Given the description of an element on the screen output the (x, y) to click on. 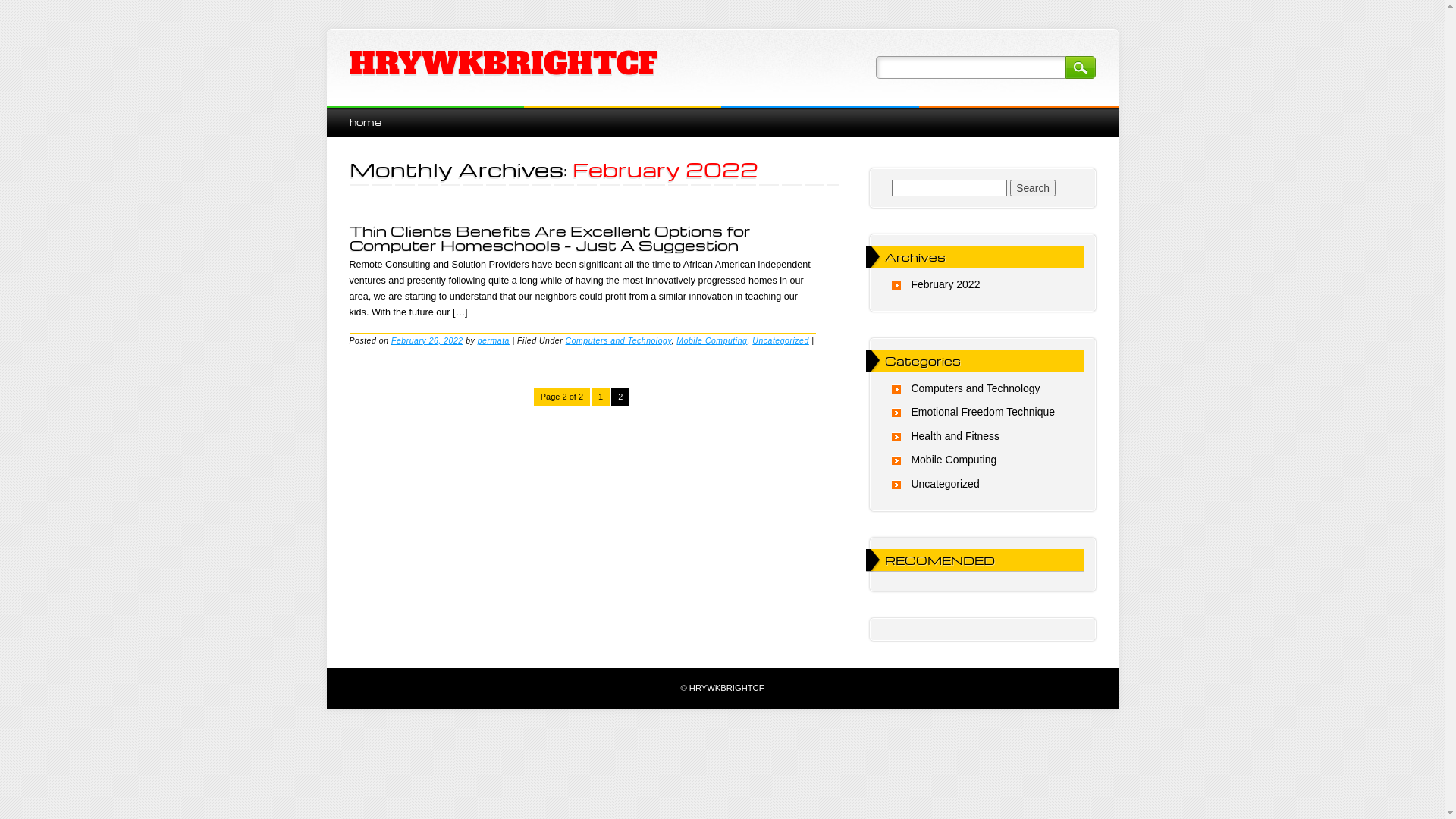
Computers and Technology Element type: text (618, 339)
HRYWKBRIGHTCF Element type: text (502, 63)
February 26, 2022 Element type: text (427, 339)
Health and Fitness Element type: text (954, 435)
February 2022 Element type: text (944, 284)
Search Element type: text (1079, 67)
Mobile Computing Element type: text (953, 459)
1 Element type: text (600, 396)
Mobile Computing Element type: text (711, 339)
Uncategorized Element type: text (944, 483)
Uncategorized Element type: text (780, 339)
Search Element type: text (1032, 187)
Emotional Freedom Technique Element type: text (982, 411)
Computers and Technology Element type: text (974, 388)
home Element type: text (364, 121)
Skip to content Element type: text (361, 113)
permata Element type: text (493, 339)
